Given the description of an element on the screen output the (x, y) to click on. 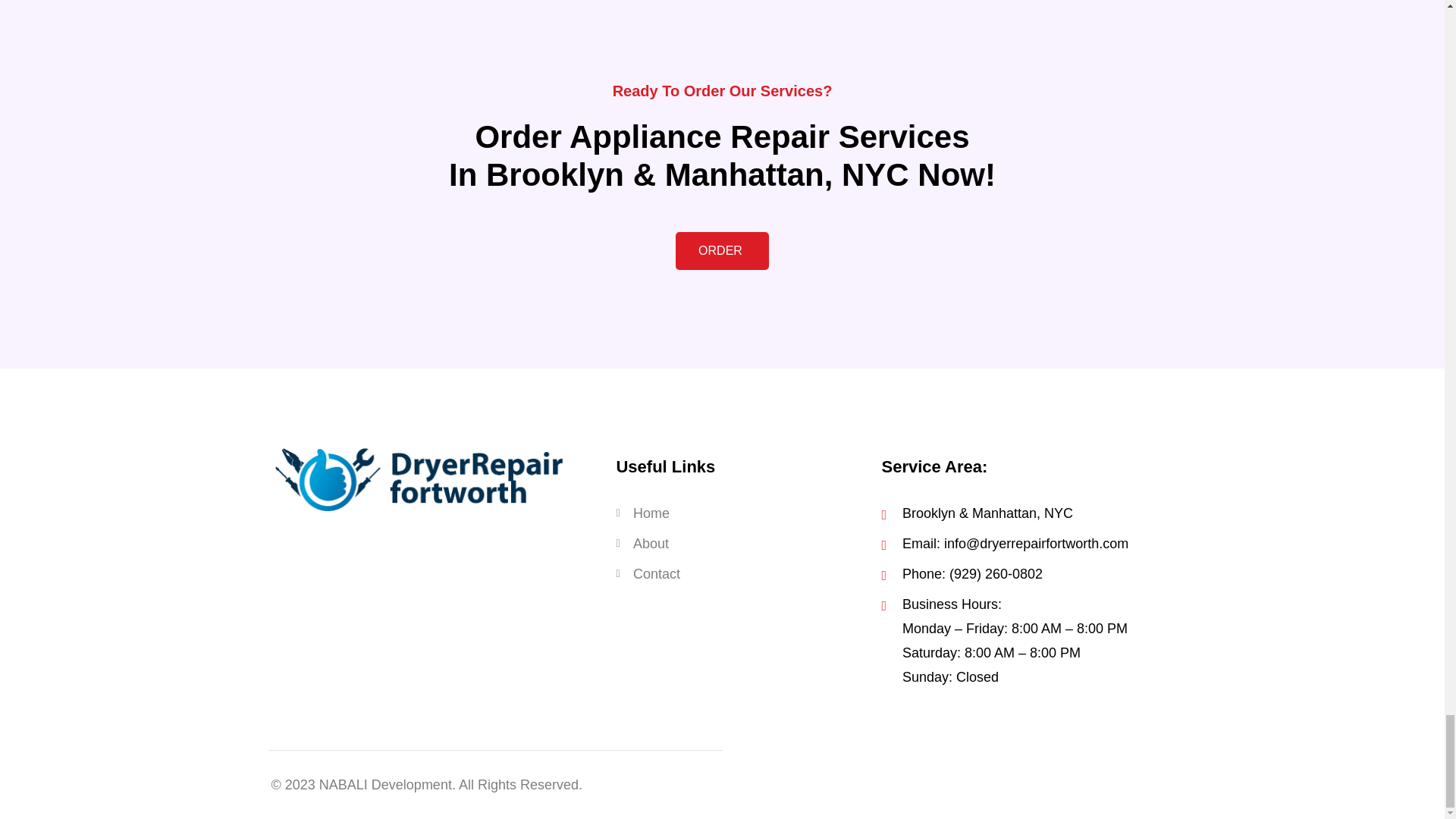
Contact (740, 573)
ORDER (721, 250)
About (740, 543)
Home (740, 513)
